Given the description of an element on the screen output the (x, y) to click on. 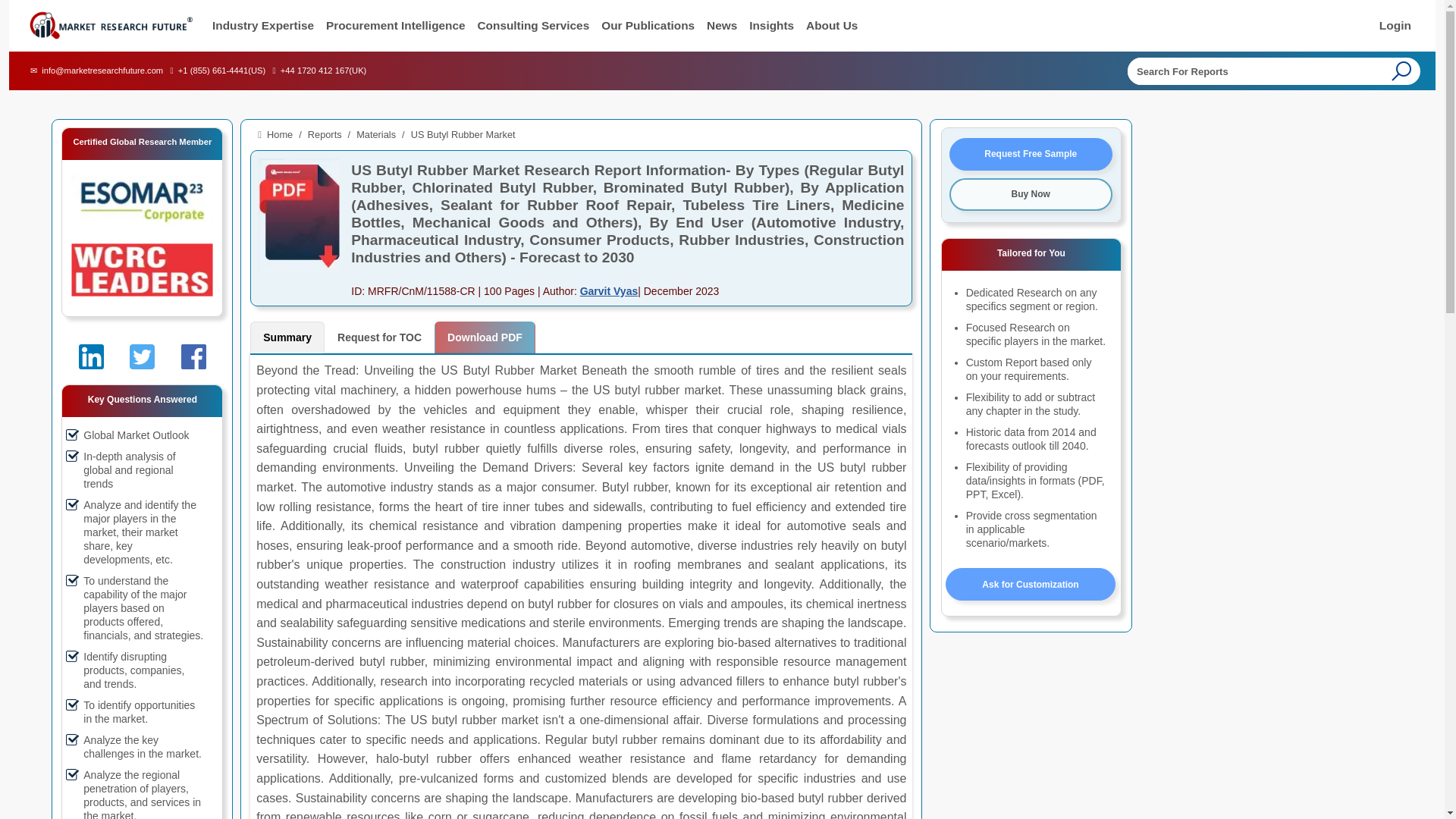
Industry Expertise (263, 25)
